Given the description of an element on the screen output the (x, y) to click on. 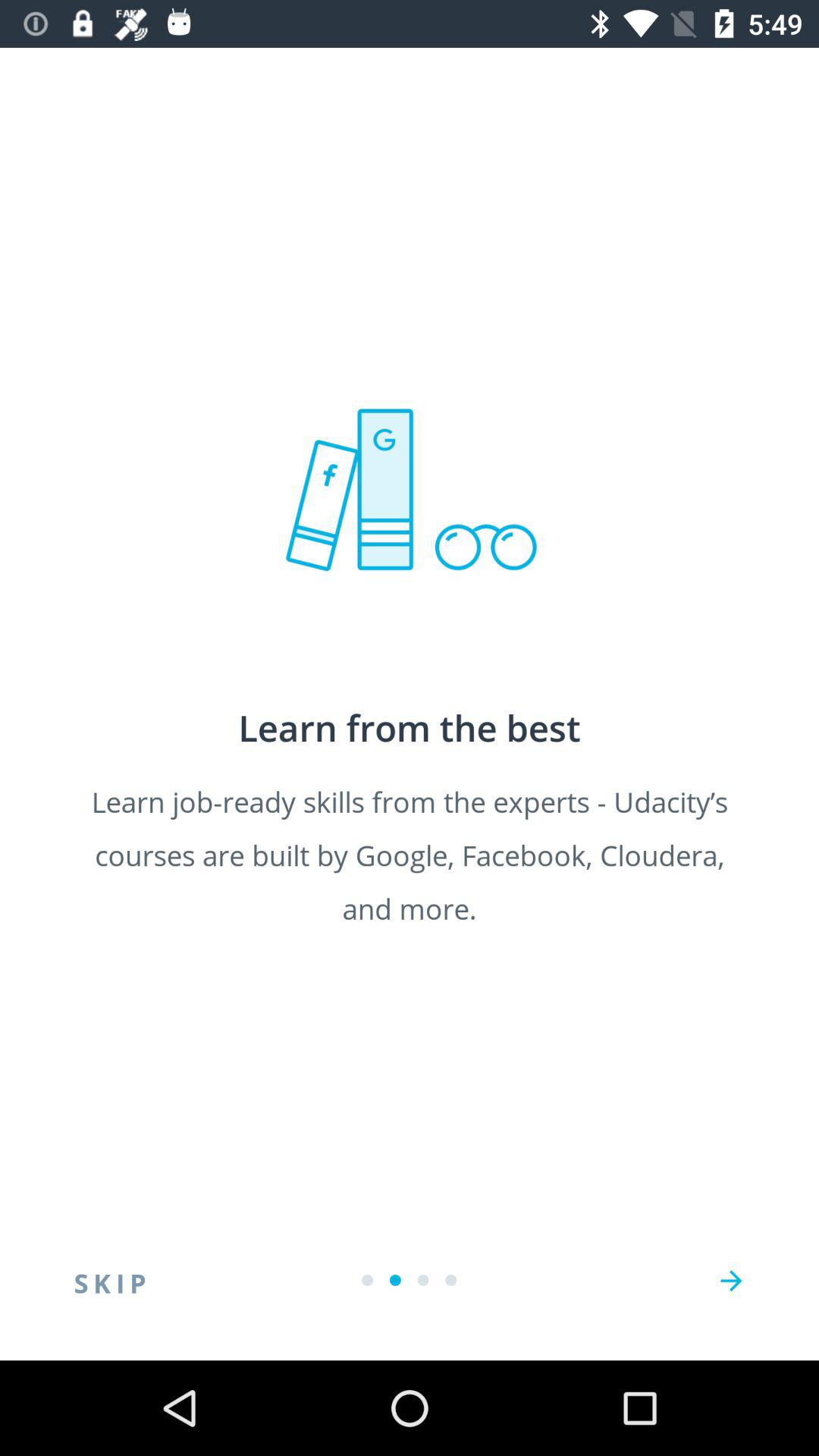
scroll to skip (109, 1280)
